Given the description of an element on the screen output the (x, y) to click on. 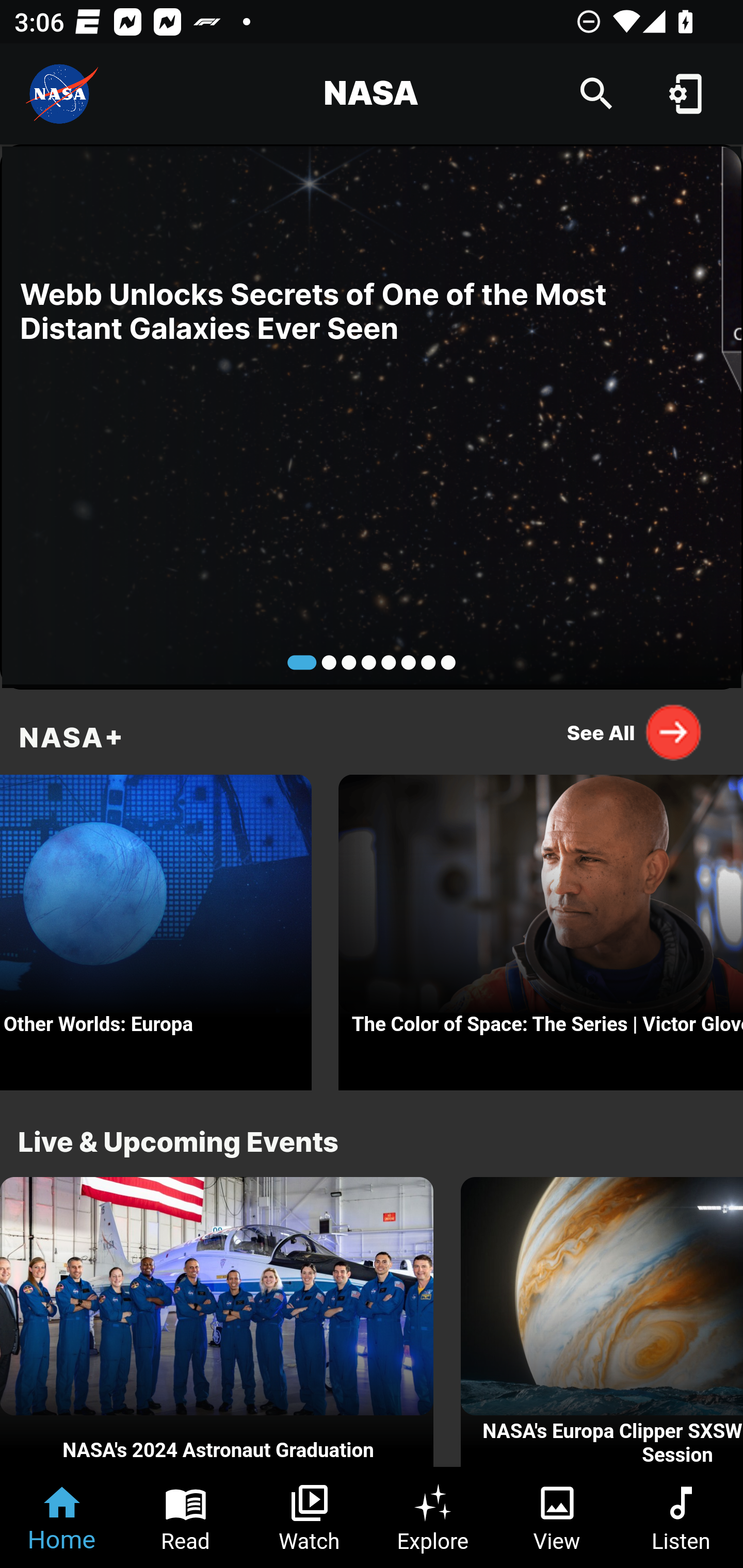
See All (634, 732)
Other Worlds: Europa (155, 927)
The Color of Space: The Series | Victor Glover (540, 927)
NASA's 2024 Astronaut Graduation (216, 1322)
NASA's Europa Clipper SXSW 2024 Opening Session (601, 1322)
Home
Tab 1 of 6 (62, 1517)
Read
Tab 2 of 6 (185, 1517)
Watch
Tab 3 of 6 (309, 1517)
Explore
Tab 4 of 6 (433, 1517)
View
Tab 5 of 6 (556, 1517)
Listen
Tab 6 of 6 (680, 1517)
